Given the description of an element on the screen output the (x, y) to click on. 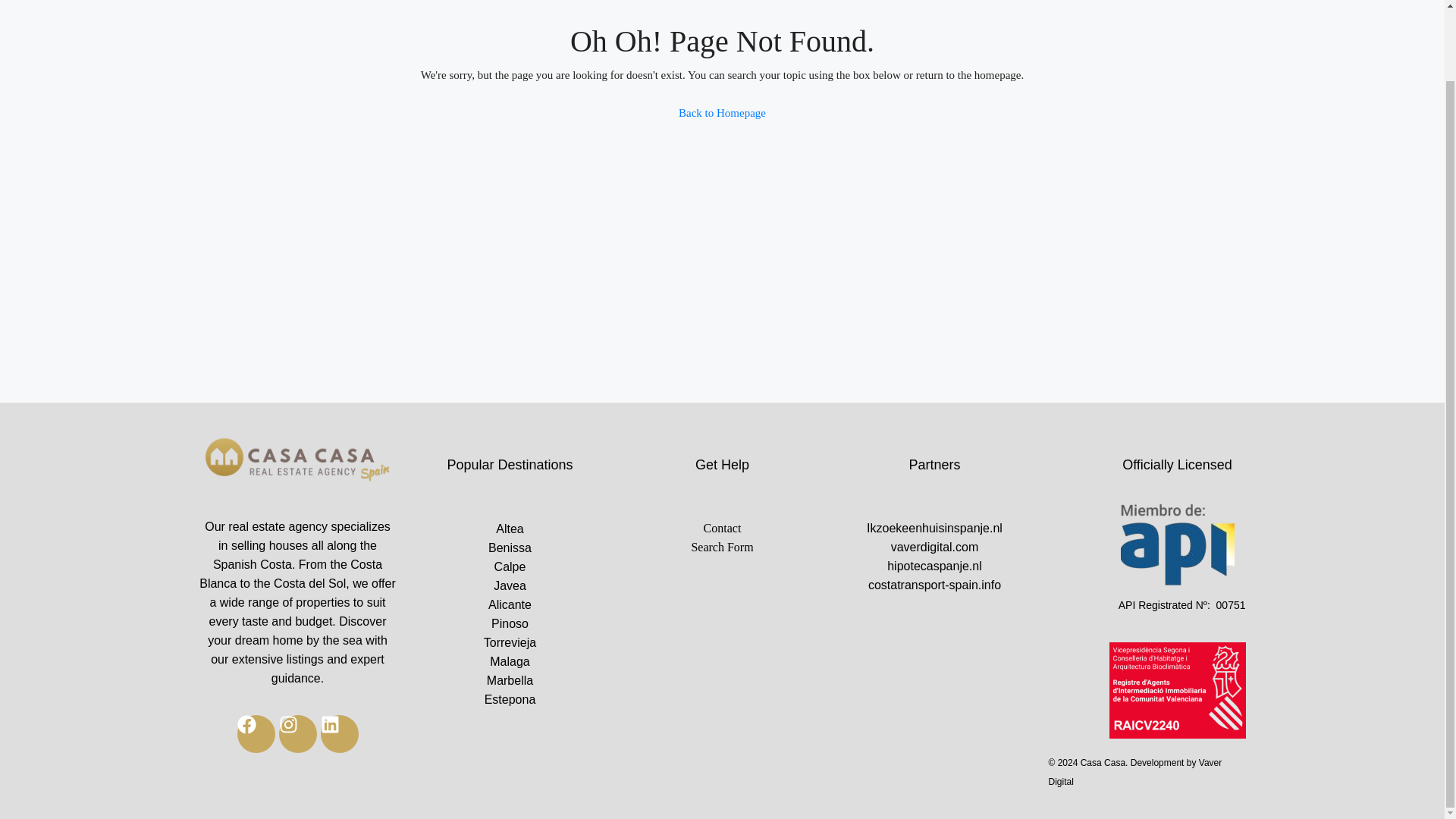
CASA CASA REAL ESTATE TRANSPA (297, 461)
Malaga (509, 660)
Marbella (509, 680)
Estepona (509, 699)
Contact (722, 527)
Pinoso (509, 623)
Search Form (722, 546)
Altea (509, 528)
Torrevieja (509, 642)
Ikzoekeenhuisinspanje.nl (933, 527)
